Given the description of an element on the screen output the (x, y) to click on. 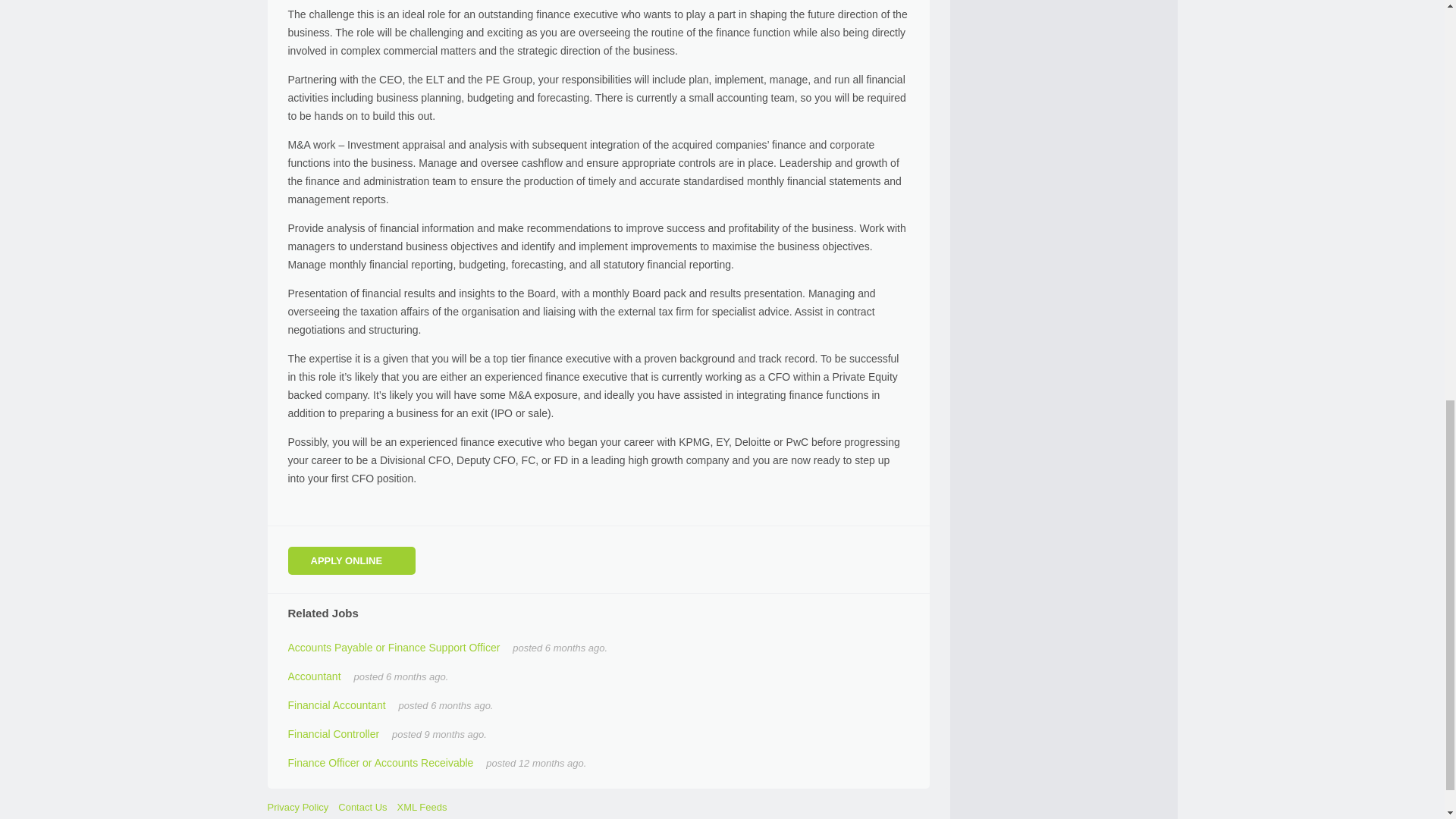
Privacy Policy (297, 807)
APPLY ONLINE   (351, 560)
Finance Officer or Accounts Receivable (381, 762)
Contact Us (362, 807)
Financial Accountant (336, 705)
Accounts Payable or Finance Support Officer (394, 647)
Accountant (314, 676)
Financial Controller (334, 734)
XML Feeds (421, 807)
